Given the description of an element on the screen output the (x, y) to click on. 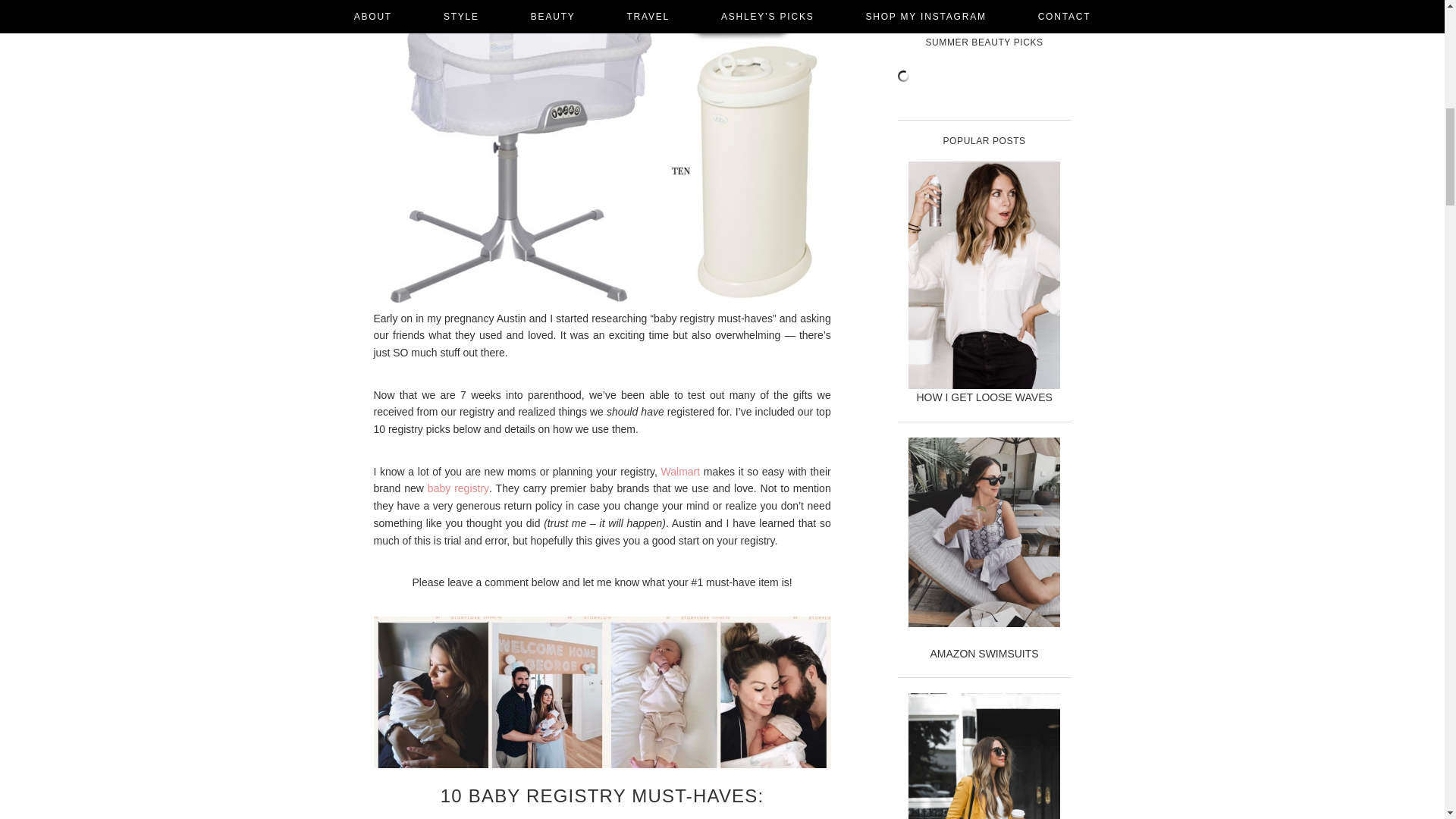
Walmart (680, 471)
Sign up (984, 2)
baby registry (458, 488)
